Given the description of an element on the screen output the (x, y) to click on. 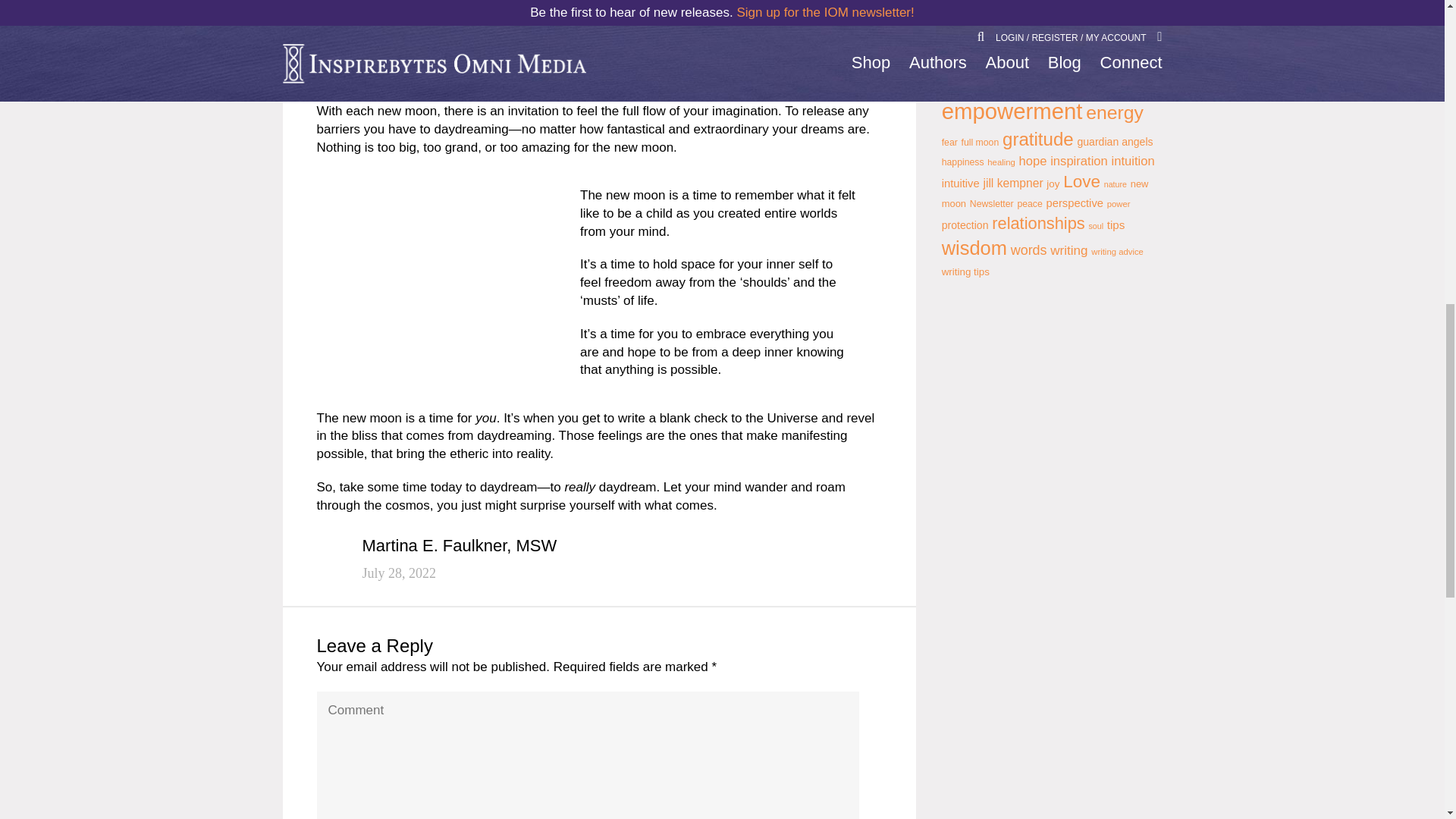
body (1058, 35)
Children's Books (988, 64)
angels (1019, 7)
authenticity (1072, 6)
change (1106, 31)
compassion (1126, 66)
awareness (994, 31)
choice (1069, 61)
angel healing (1035, 7)
Martina E. Faulkner, MSW (459, 547)
